Given the description of an element on the screen output the (x, y) to click on. 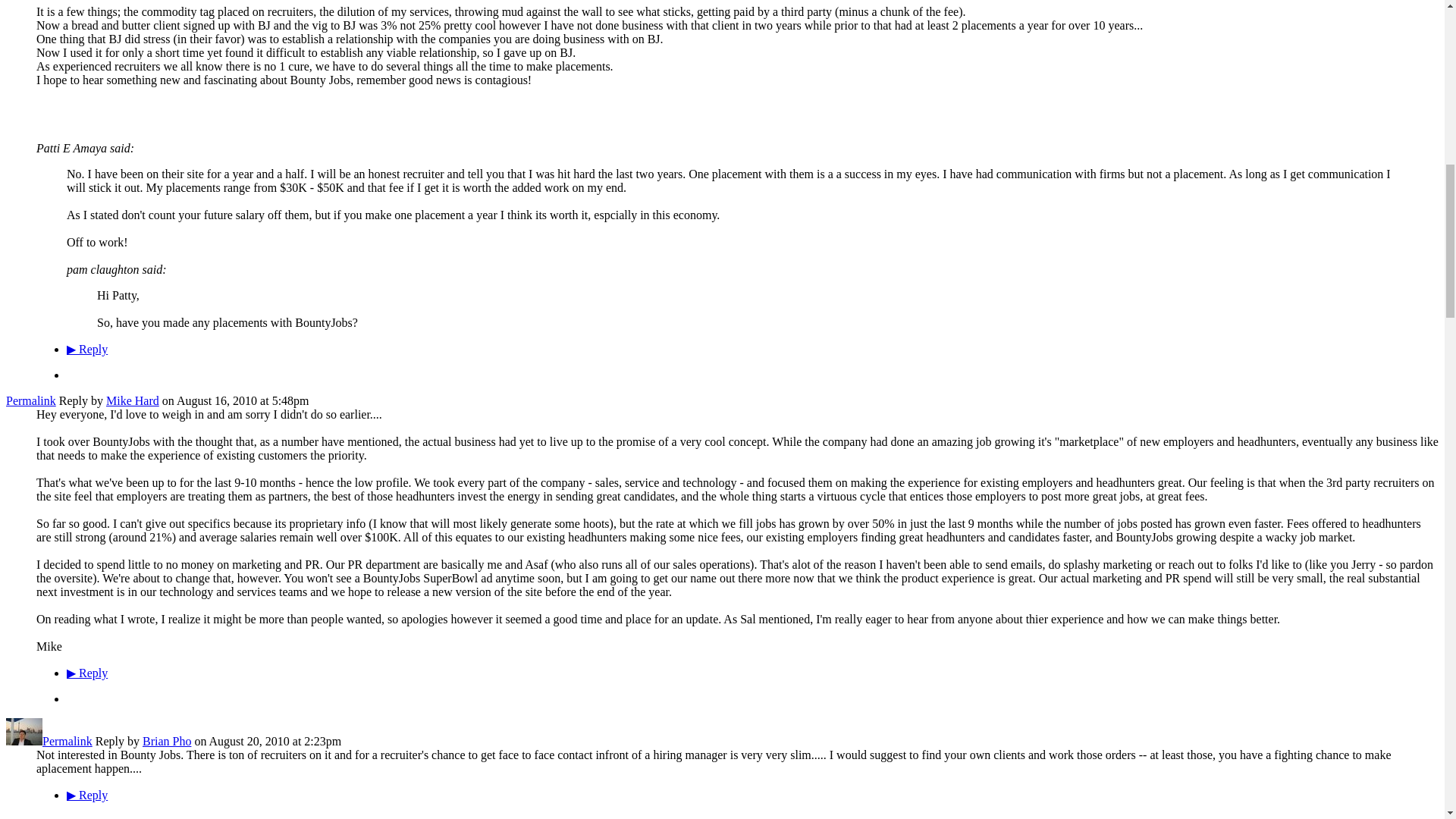
Brian Pho (23, 740)
Permalink to this Reply (67, 740)
Permalink to this Reply (30, 400)
